Given the description of an element on the screen output the (x, y) to click on. 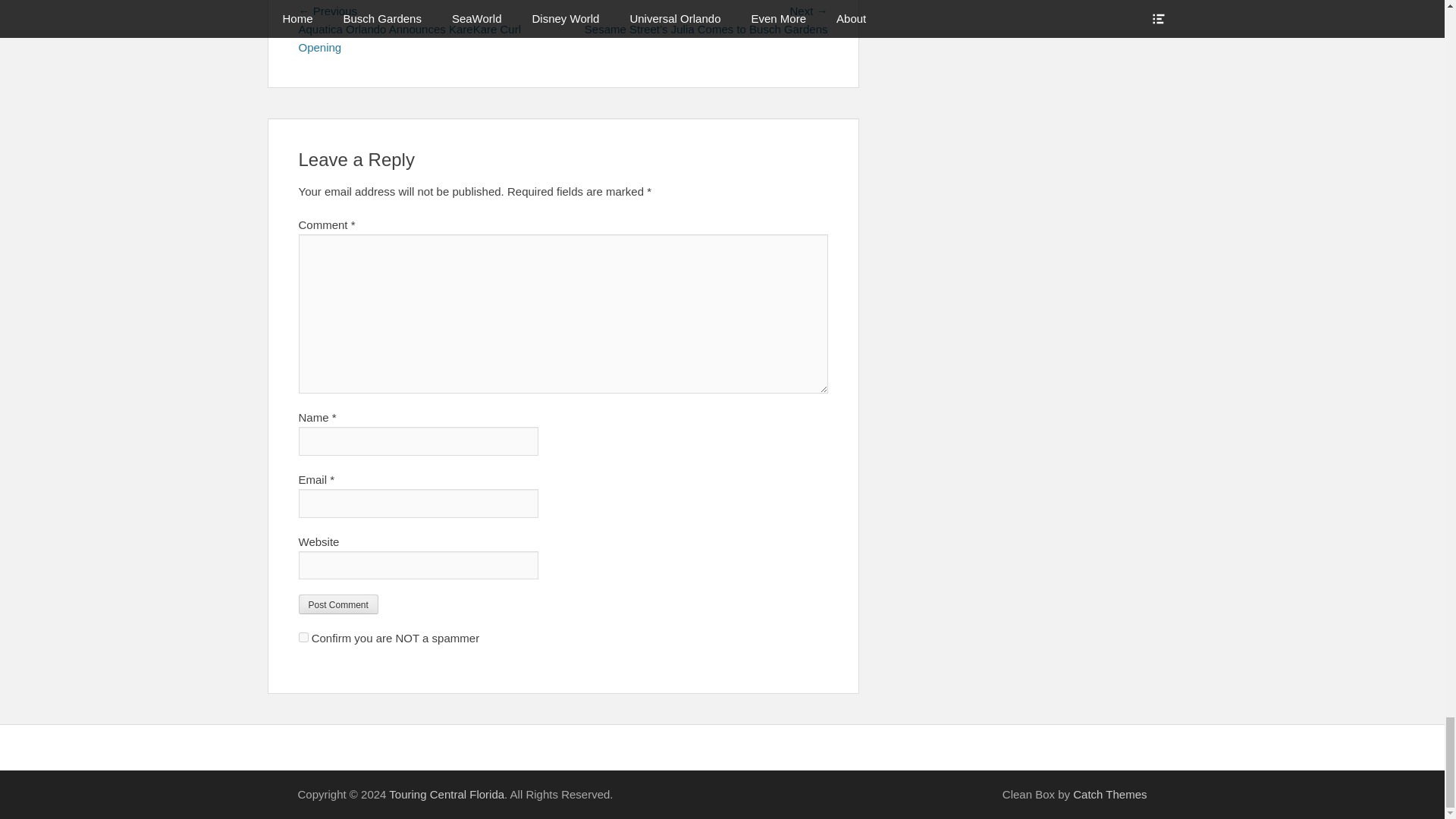
Post Comment (338, 604)
on (303, 637)
